Given the description of an element on the screen output the (x, y) to click on. 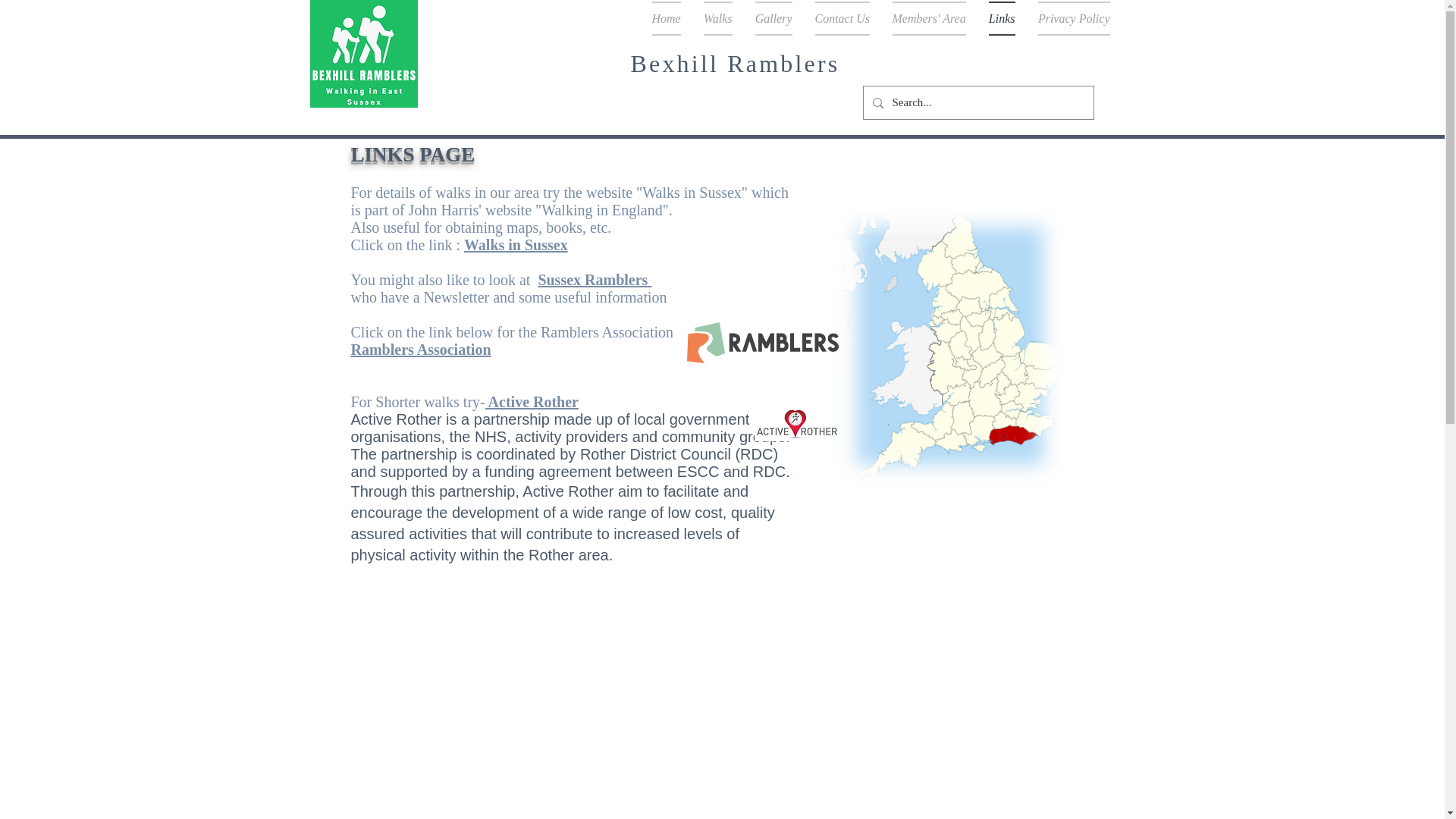
For Shorter walks try- Active Rother (464, 419)
Sussex Ramblers  (593, 279)
Privacy Policy (1067, 18)
Walks (716, 18)
Walks in Sussex (515, 244)
Active-Rother-Logo-1.png (796, 424)
Links (1001, 18)
Members' Area (928, 18)
Contact Us (841, 18)
Bexhill Ramblers (735, 62)
Gallery (772, 18)
Ramblers Association (420, 349)
Home (665, 18)
